Given the description of an element on the screen output the (x, y) to click on. 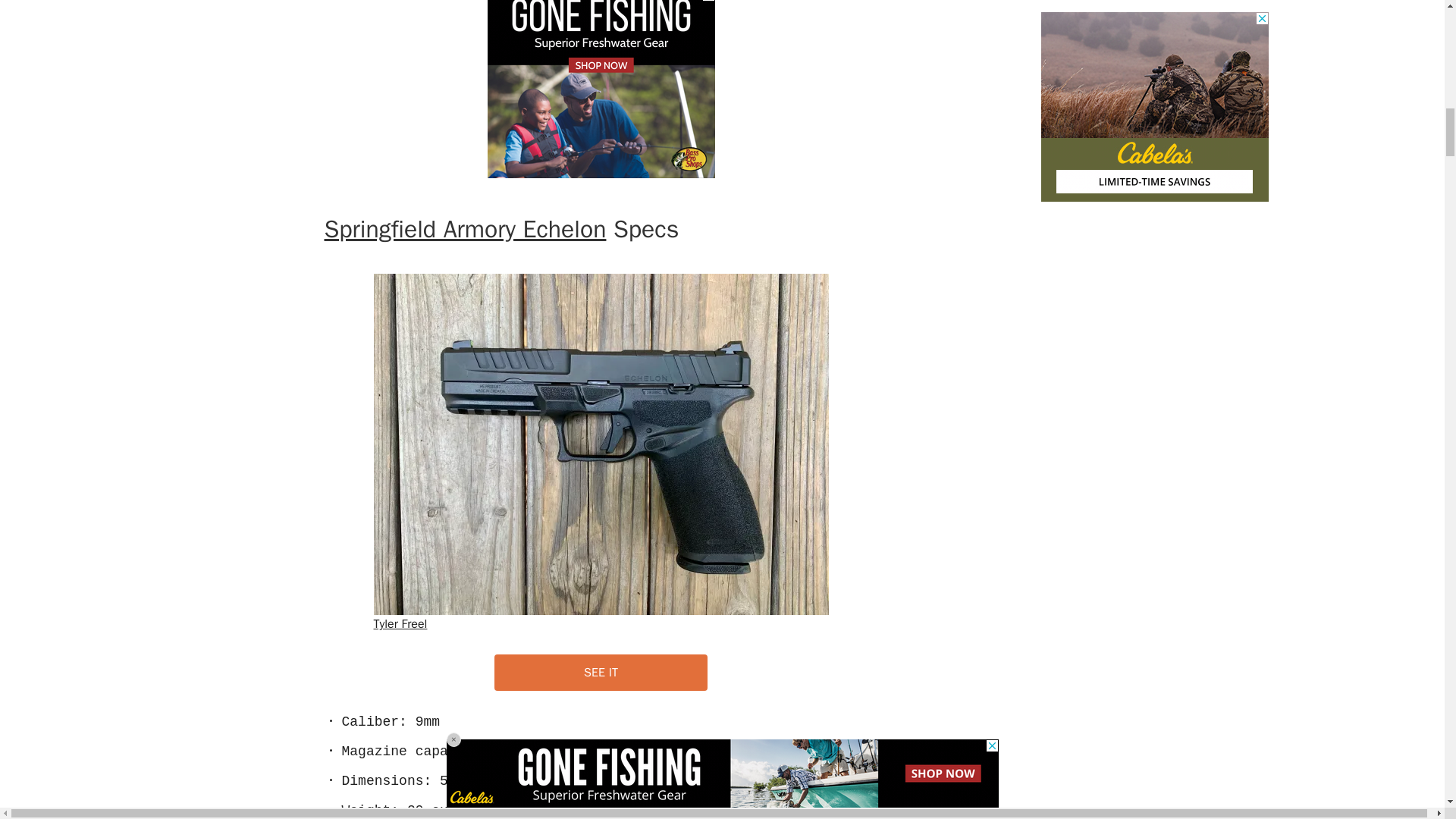
3rd party ad content (600, 89)
